Given the description of an element on the screen output the (x, y) to click on. 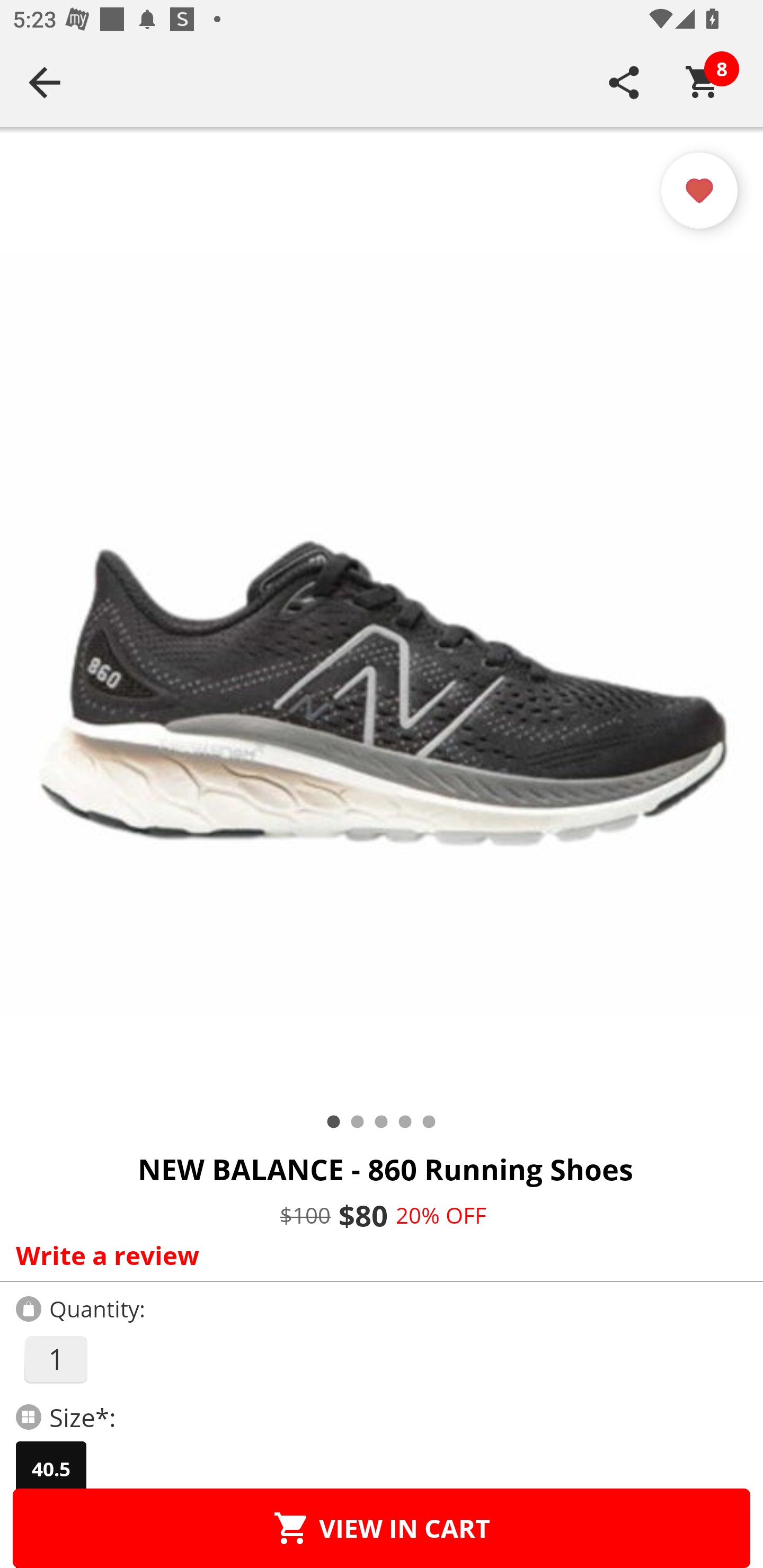
Navigate up (44, 82)
SHARE (623, 82)
Cart (703, 81)
Write a review (377, 1255)
1 (55, 1358)
40.5 (51, 1468)
VIEW IN CART (381, 1528)
